Given the description of an element on the screen output the (x, y) to click on. 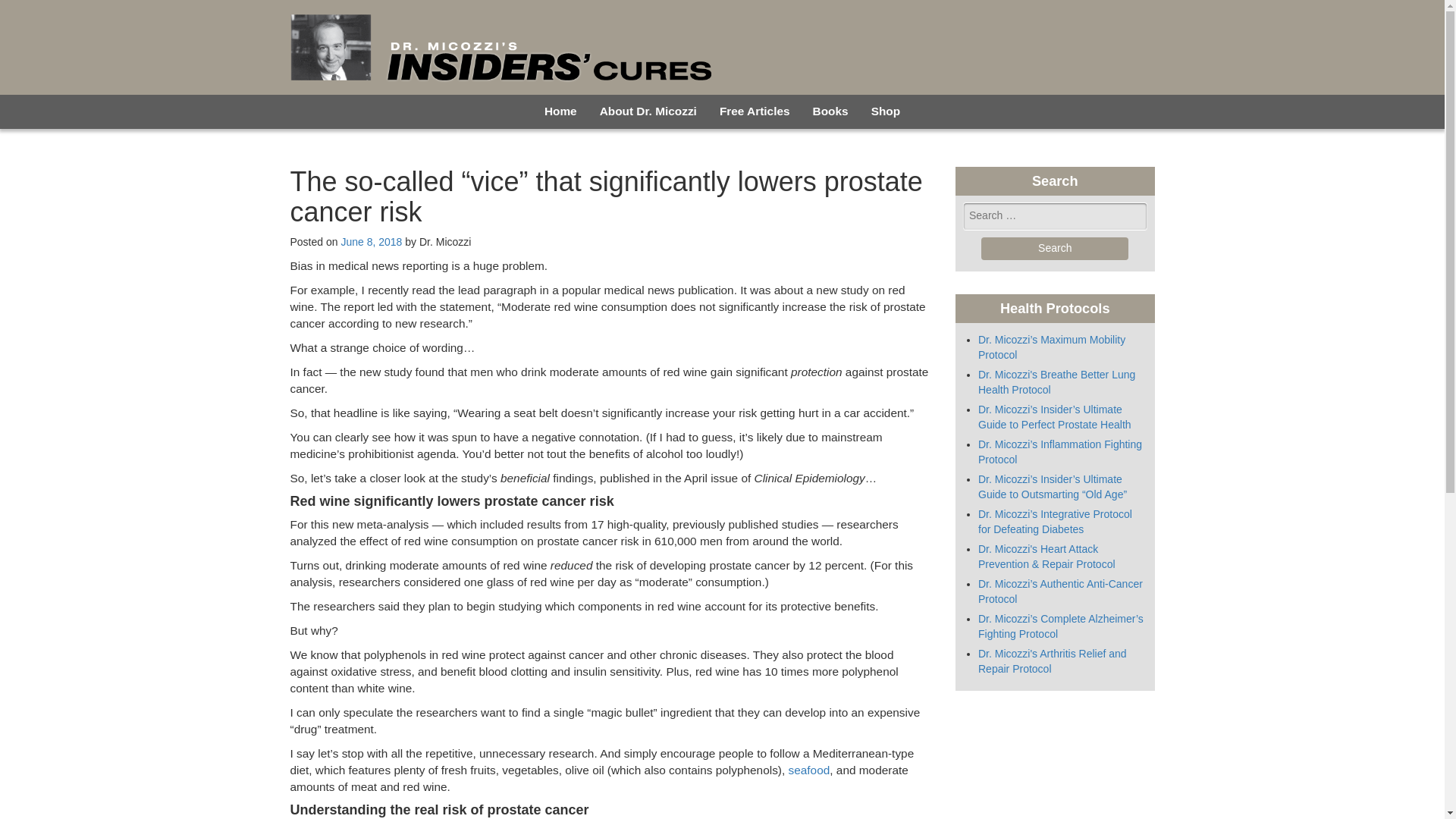
Free Articles (754, 111)
Books (831, 111)
Home (560, 111)
About Dr. Micozzi (647, 111)
Search (1054, 248)
About Dr. Micozzi (647, 111)
Dr. Micozzi's Arthritis Relief and Repair Protocol (1052, 660)
Books (831, 111)
Free Articles (754, 111)
Shop (885, 111)
Home (560, 111)
Dr. Micozzi's Breathe Better Lung Health Protocol (1056, 381)
Search (1054, 248)
Shop (885, 111)
Search (1054, 248)
